Given the description of an element on the screen output the (x, y) to click on. 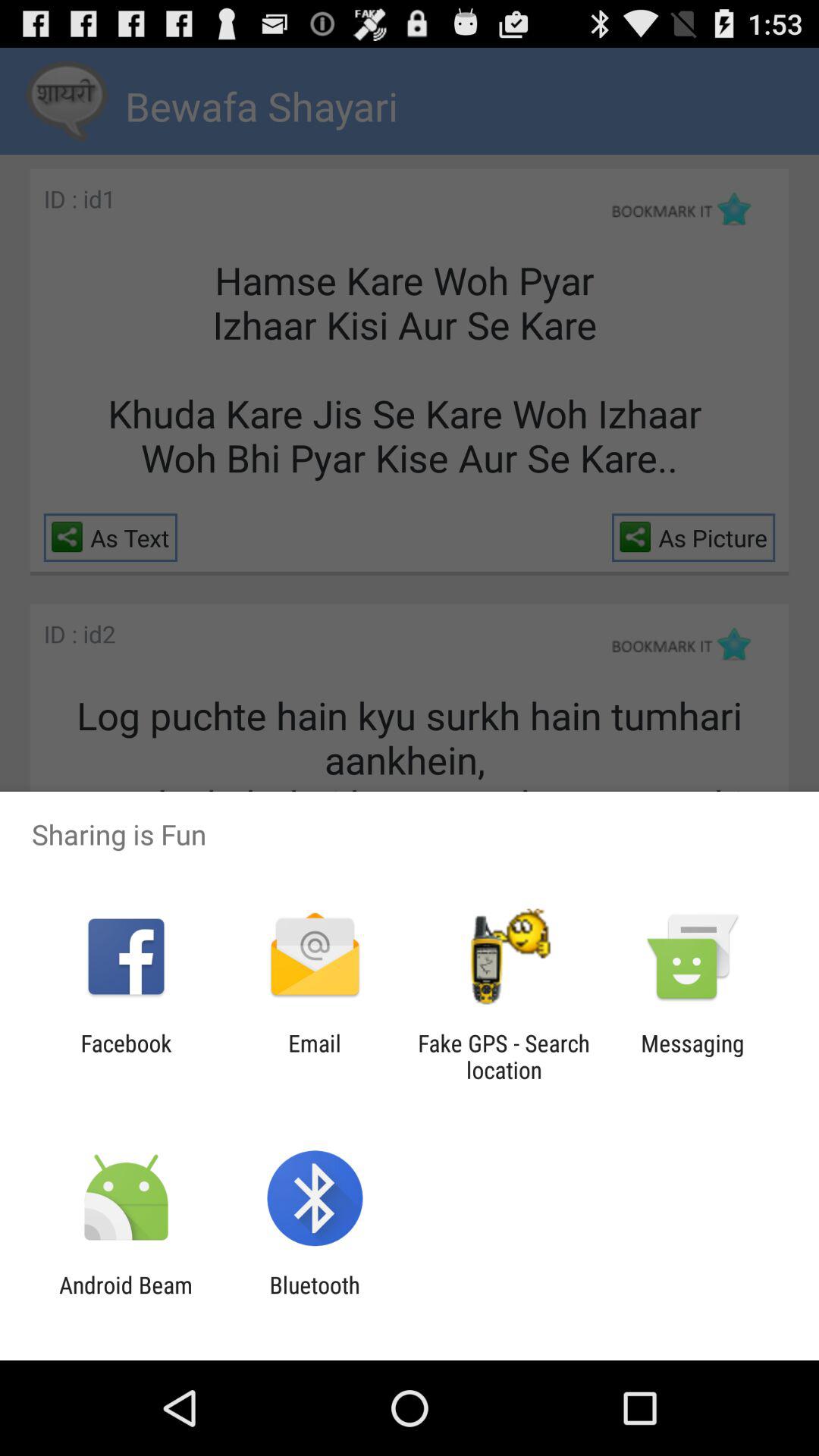
choose the icon next to messaging icon (503, 1056)
